Given the description of an element on the screen output the (x, y) to click on. 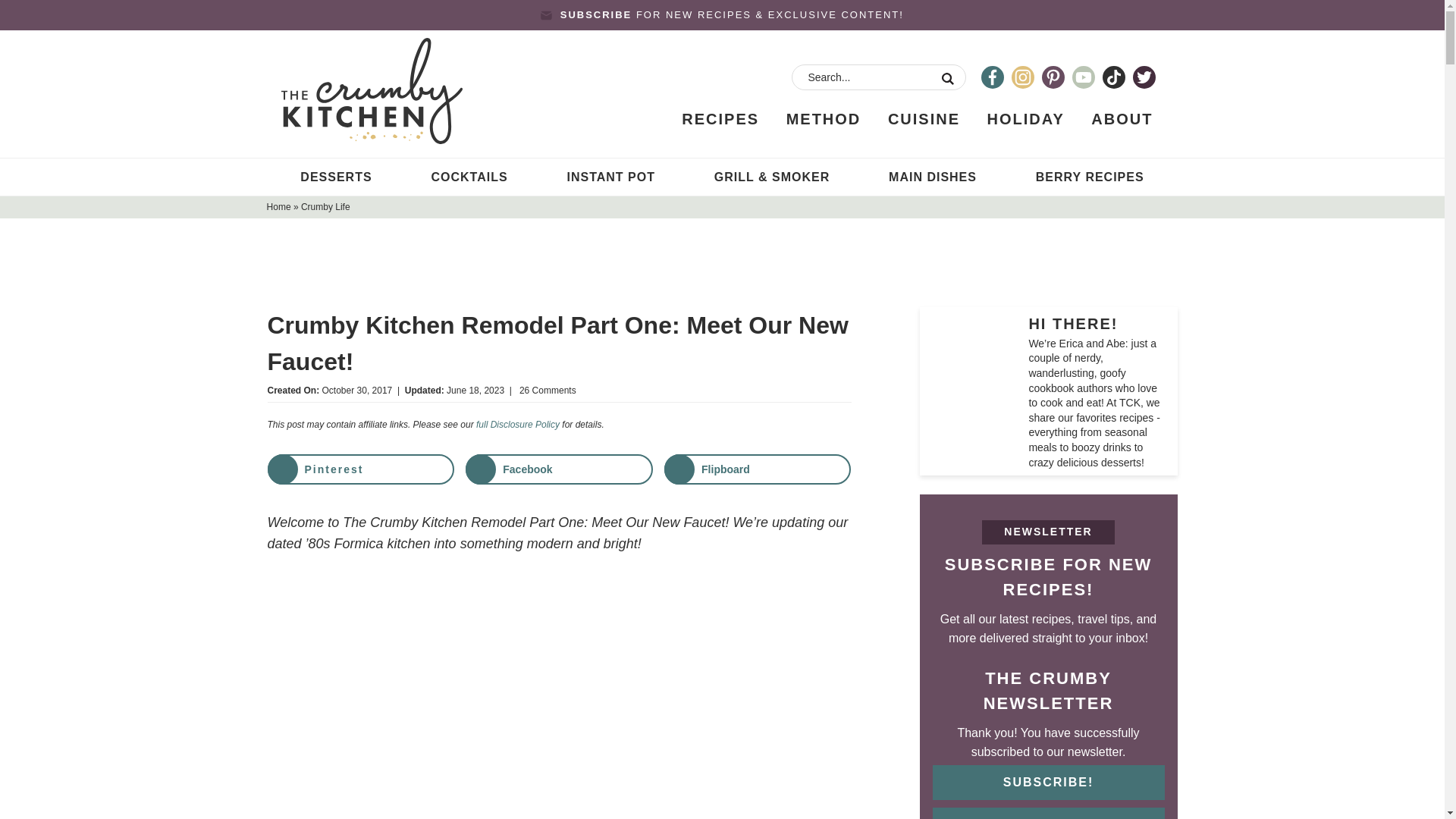
Save to Pinterest (359, 469)
Share on Flipboard (756, 469)
Share on Facebook (558, 469)
